Given the description of an element on the screen output the (x, y) to click on. 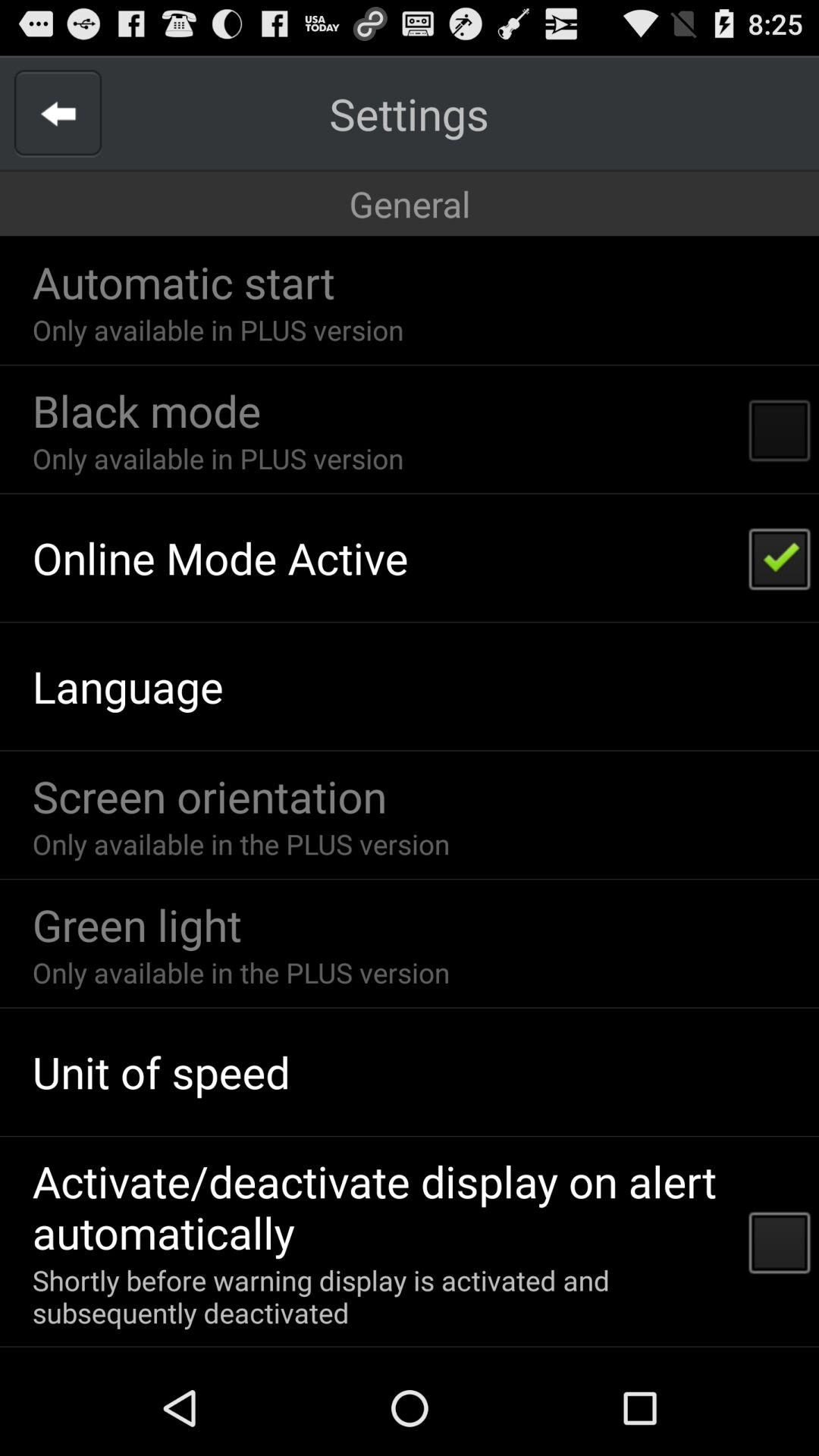
select app above the only available in icon (146, 410)
